Given the description of an element on the screen output the (x, y) to click on. 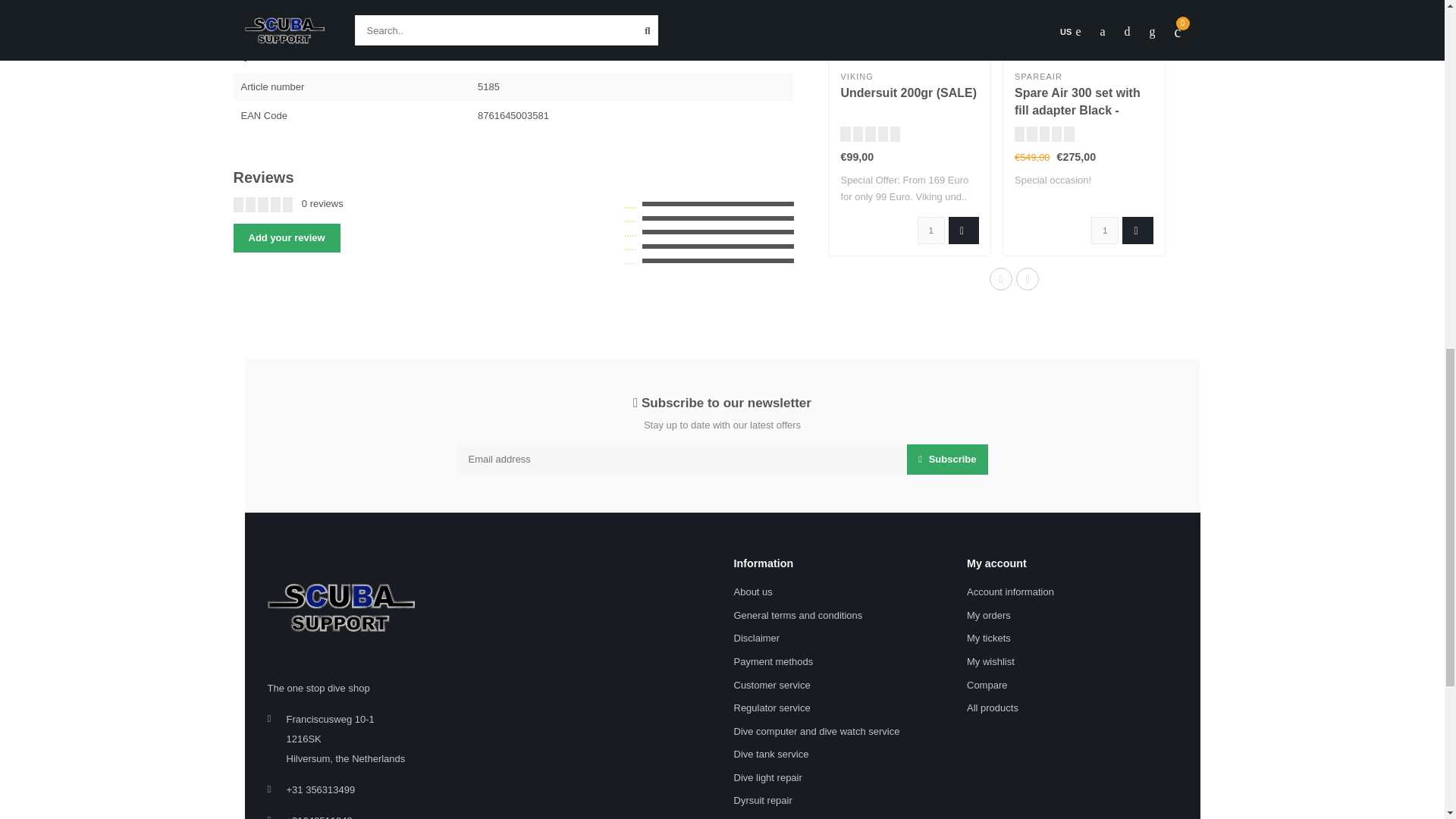
1 (930, 230)
General terms and conditions (798, 616)
About us (753, 592)
1 (1104, 230)
